Given the description of an element on the screen output the (x, y) to click on. 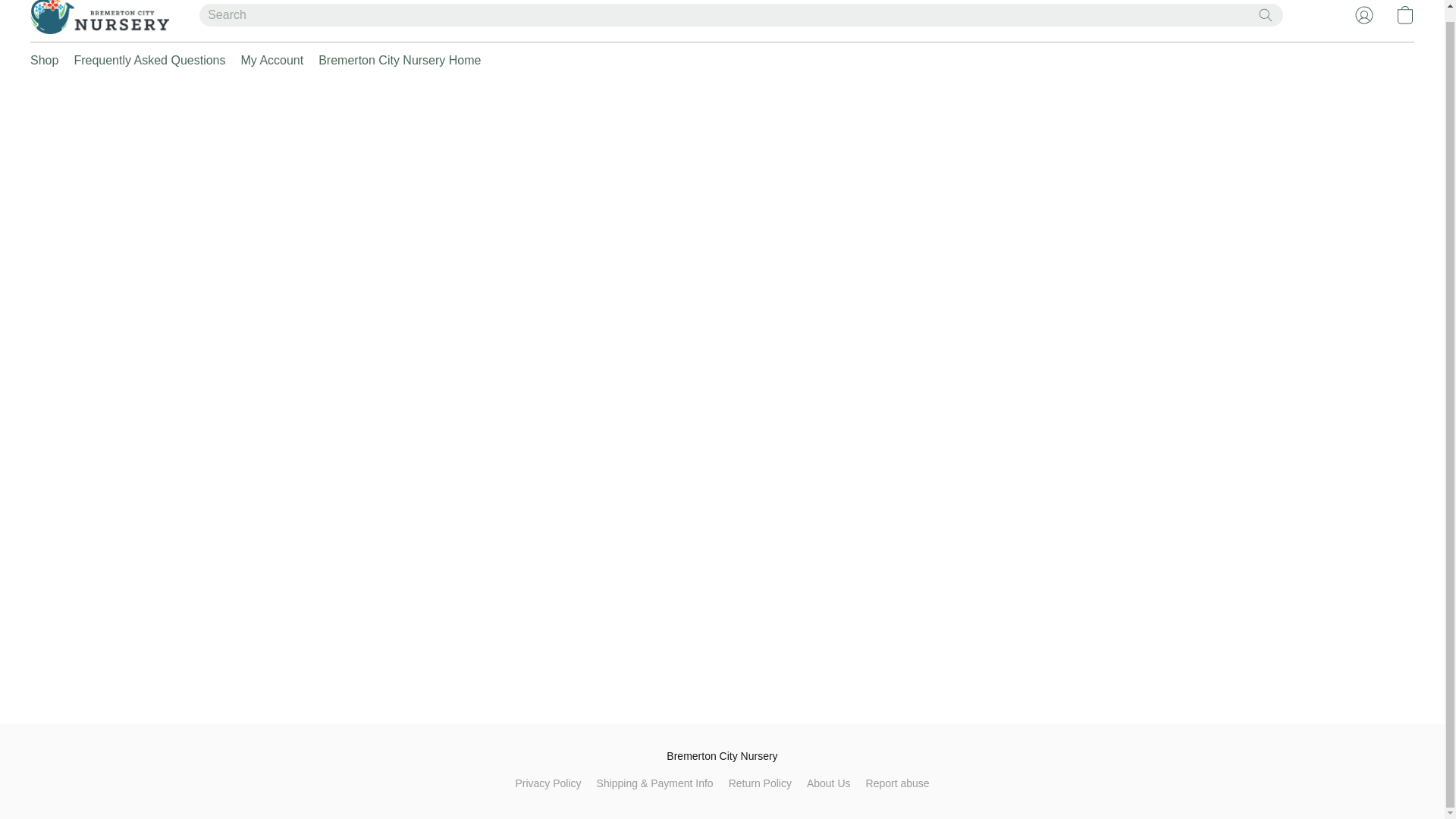
My Account (271, 60)
Frequently Asked Questions (148, 60)
Return Policy (760, 782)
About Us (828, 782)
Shop (47, 60)
Bremerton City Nursery Home (395, 60)
Privacy Policy (547, 782)
Report abuse (898, 782)
Go to your shopping cart (1404, 15)
